Given the description of an element on the screen output the (x, y) to click on. 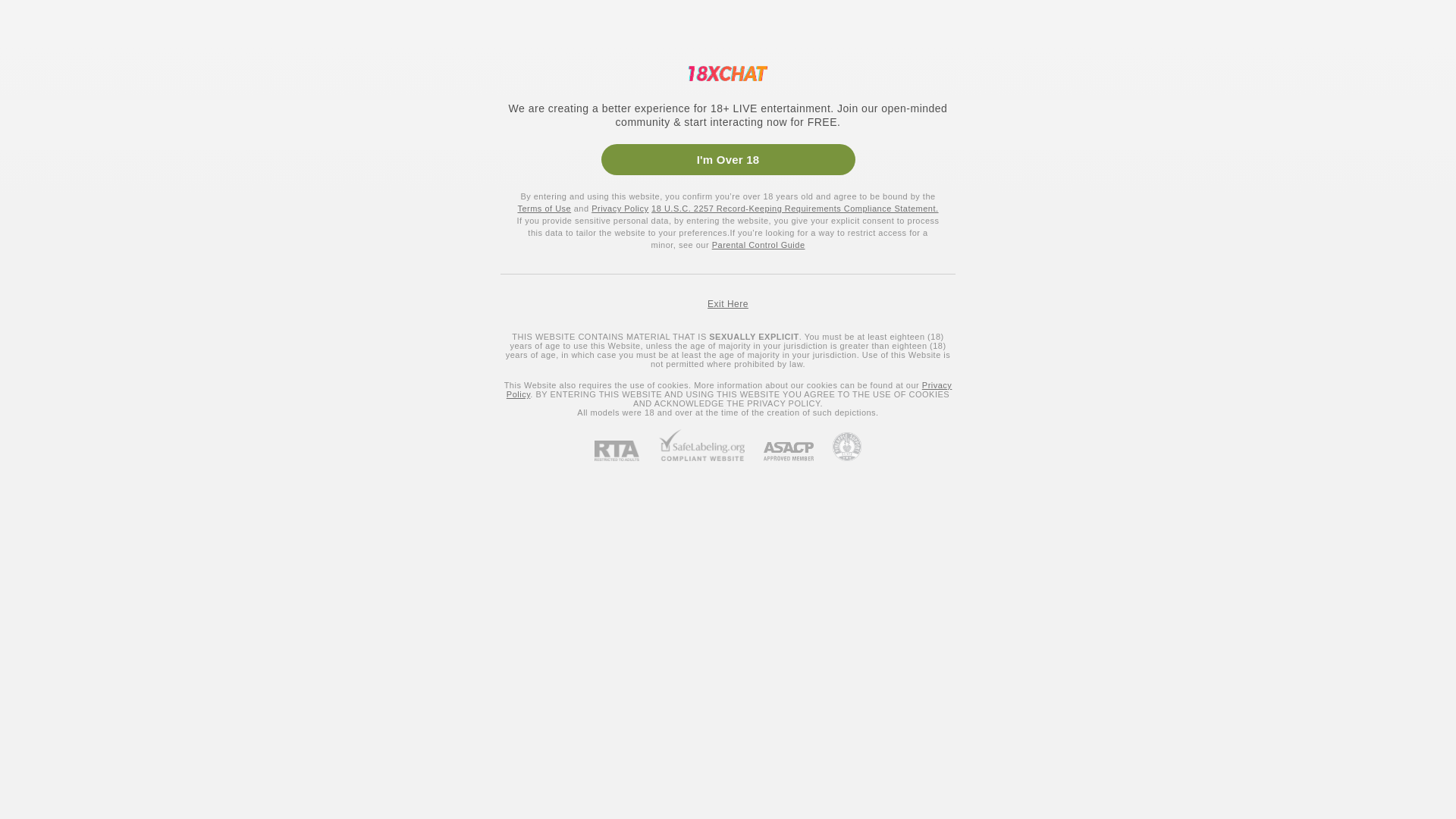
Cookie Policy Element type: text (506, 793)
sexy_lan Element type: text (1095, 242)
Privacy Policy Element type: text (729, 389)
Recommended Element type: text (79, 150)
Accept All Element type: text (1085, 777)
GET DEALS Element type: text (1379, 103)
MILF Element type: text (26, 528)
ALL CATEGORIES + Element type: text (79, 800)
_ziizi_ Element type: text (1289, 610)
Indian Element type: text (28, 706)
Terms of Use Element type: text (544, 208)
wangxx1 Element type: text (1095, 389)
Exit Here Element type: text (727, 303)
Chinese Element type: text (46, 307)
Nana-Cute Element type: text (1095, 610)
Jessical Element type: text (318, 610)
Arab Element type: text (25, 635)
lucy_1811 Element type: text (512, 242)
Feed Element type: text (79, 123)
Watch History Element type: text (79, 203)
Privacy Policy Element type: text (619, 208)
wenwen1688 Element type: text (512, 610)
White Element type: text (27, 753)
I'm Over 18 Element type: text (727, 159)
VR Cams Element type: text (49, 354)
sm-Yingzi Element type: text (706, 389)
SEE ALL Element type: text (1348, 521)
Log In Element type: text (1400, 20)
Girls Element type: text (28, 55)
Teen 18+ Element type: text (35, 481)
7393 LIVE Element type: text (193, 20)
Latina Element type: text (28, 729)
Guys Element type: text (164, 55)
Ana-Dolly Element type: text (1289, 389)
Parental Control Guide Element type: text (758, 244)
Ukrainian Element type: text (49, 284)
My Favorites Element type: text (79, 176)
Chinese Element type: text (276, 152)
Fetishes Element type: text (47, 378)
0O0O_00O-O00O0 Element type: text (512, 389)
New Models Element type: text (56, 331)
IsMiMi Element type: text (706, 610)
AAAAAWWWW111 Element type: text (318, 389)
Top Free Live Webcams Element type: text (305, 520)
SEE ALL Element type: text (1348, 153)
Flirting Element type: text (43, 401)
Ebony Element type: text (29, 682)
Trans Element type: text (226, 55)
Young 22+ Element type: text (38, 505)
Create Free Account Element type: text (1298, 20)
Couples Element type: text (95, 55)
Home Element type: text (79, 96)
Fannywell Element type: text (900, 389)
SEE MORE Element type: text (804, 479)
ShadowLover_ Element type: text (900, 242)
Granny Element type: text (31, 575)
_ziizi_ Element type: text (706, 242)
Asian Element type: text (27, 659)
wenwen1688 Element type: text (318, 242)
Game_yoyo Element type: text (1289, 242)
Manage Element type: text (997, 777)
Top Models Element type: text (295, 20)
Mature Element type: text (30, 552)
Skinny Element type: text (29, 812)
Selina-Kim Element type: text (900, 610)
